Given the description of an element on the screen output the (x, y) to click on. 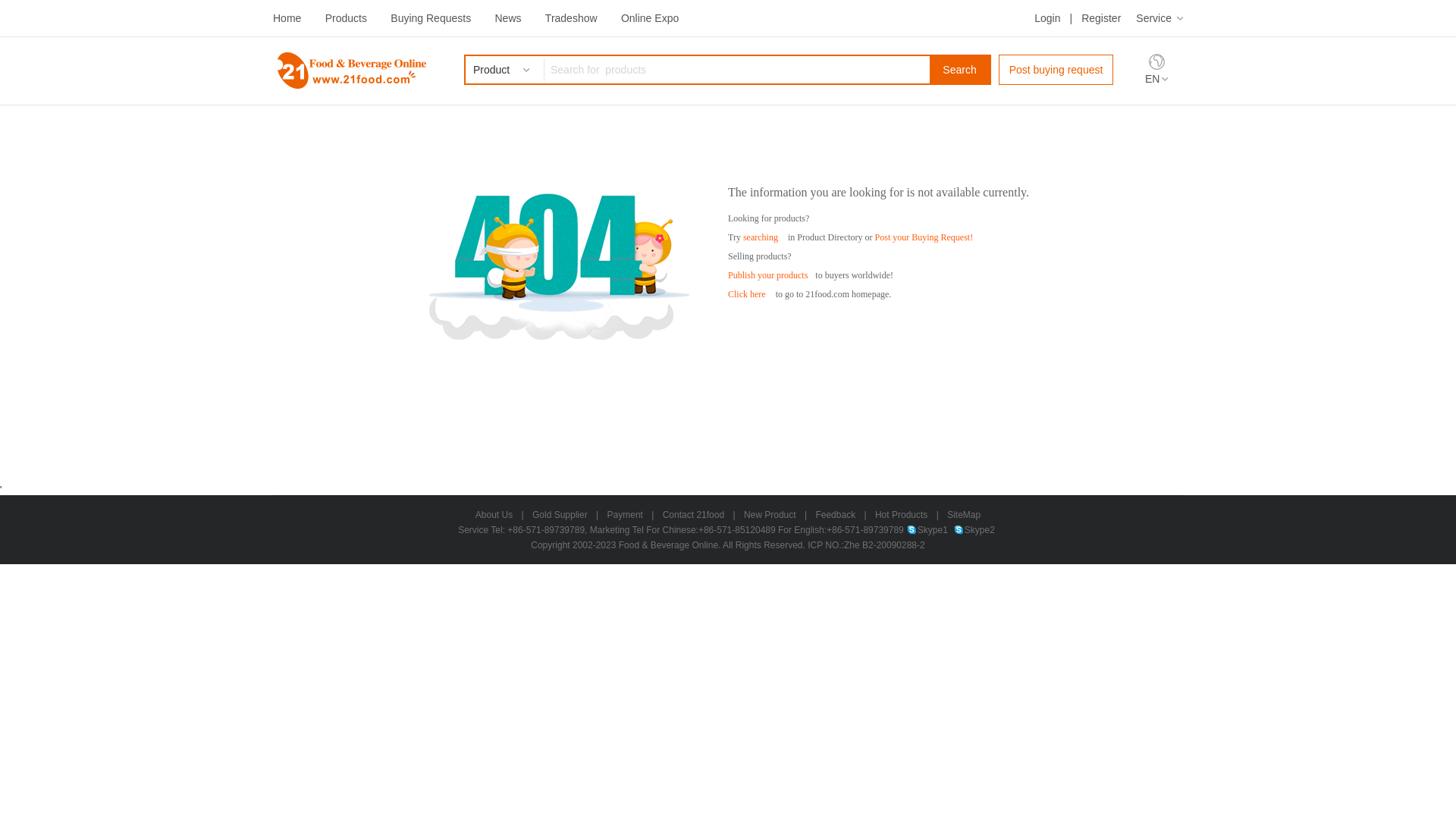
Gold Supplier Element type: text (559, 514)
searching Element type: text (760, 237)
Post your Buying Request! Element type: text (924, 237)
SiteMap Element type: text (963, 514)
Login Element type: text (1047, 18)
Click here Element type: text (746, 293)
Online Expo Element type: text (649, 18)
About Us Element type: text (493, 514)
Post buying request Element type: text (1055, 69)
Service Element type: text (1159, 18)
Publish your products Element type: text (767, 274)
Tradeshow Element type: text (571, 18)
Search Element type: text (959, 69)
Skype1 Element type: text (926, 529)
Feedback Element type: text (835, 514)
Skype2 Element type: text (973, 529)
Payment Element type: text (625, 514)
Hot Products Element type: text (901, 514)
Contact 21food Element type: text (693, 514)
Buying Requests Element type: text (430, 18)
News Element type: text (507, 18)
Register Element type: text (1100, 18)
New Product Element type: text (769, 514)
Products Element type: text (346, 18)
EN Element type: text (1156, 78)
Home Element type: text (287, 18)
